Given the description of an element on the screen output the (x, y) to click on. 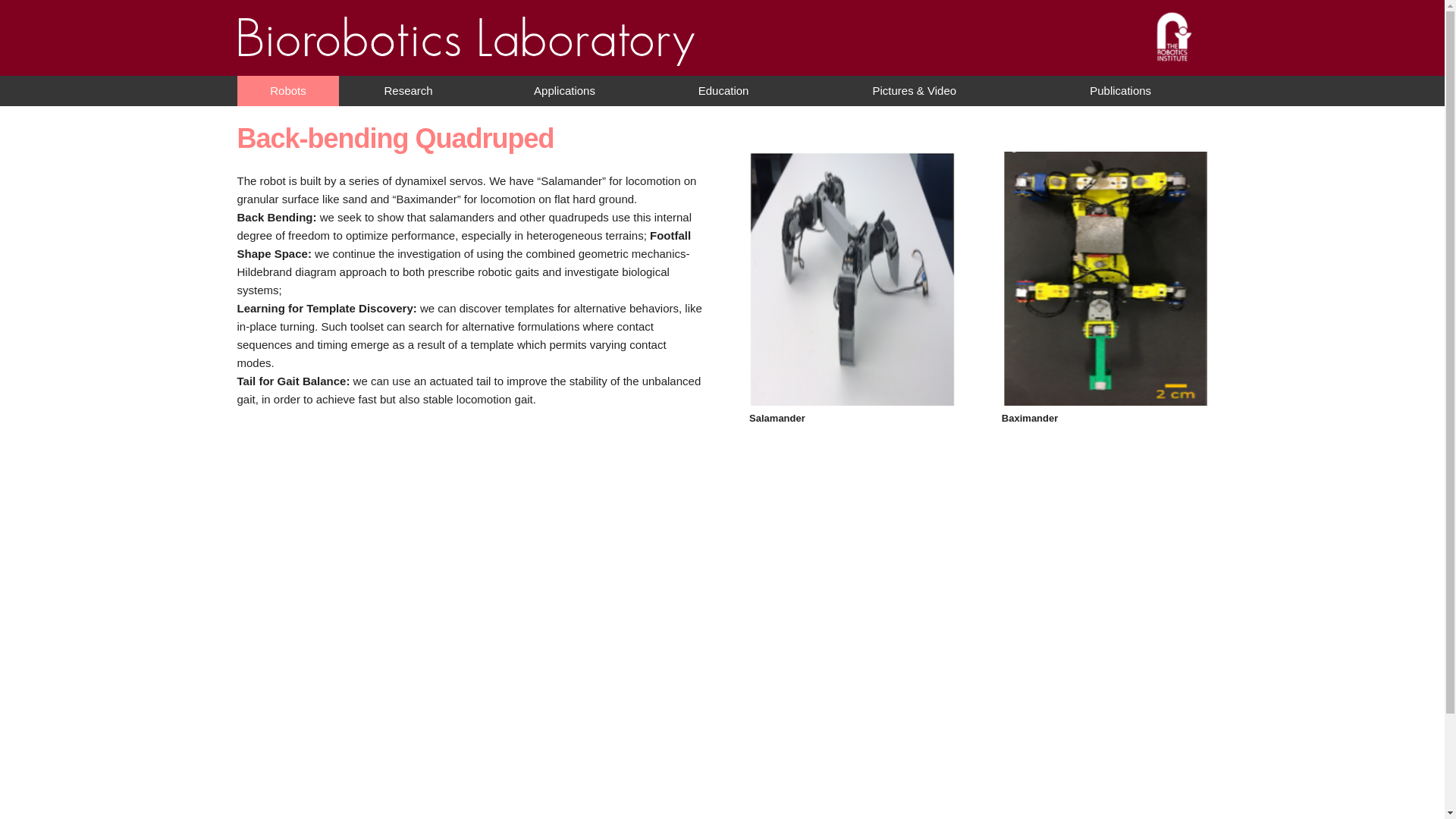
Robots (287, 91)
Publications (1120, 91)
Biorobotics Laboratory (465, 52)
Education (722, 91)
Research (408, 91)
Applications (564, 91)
